Given the description of an element on the screen output the (x, y) to click on. 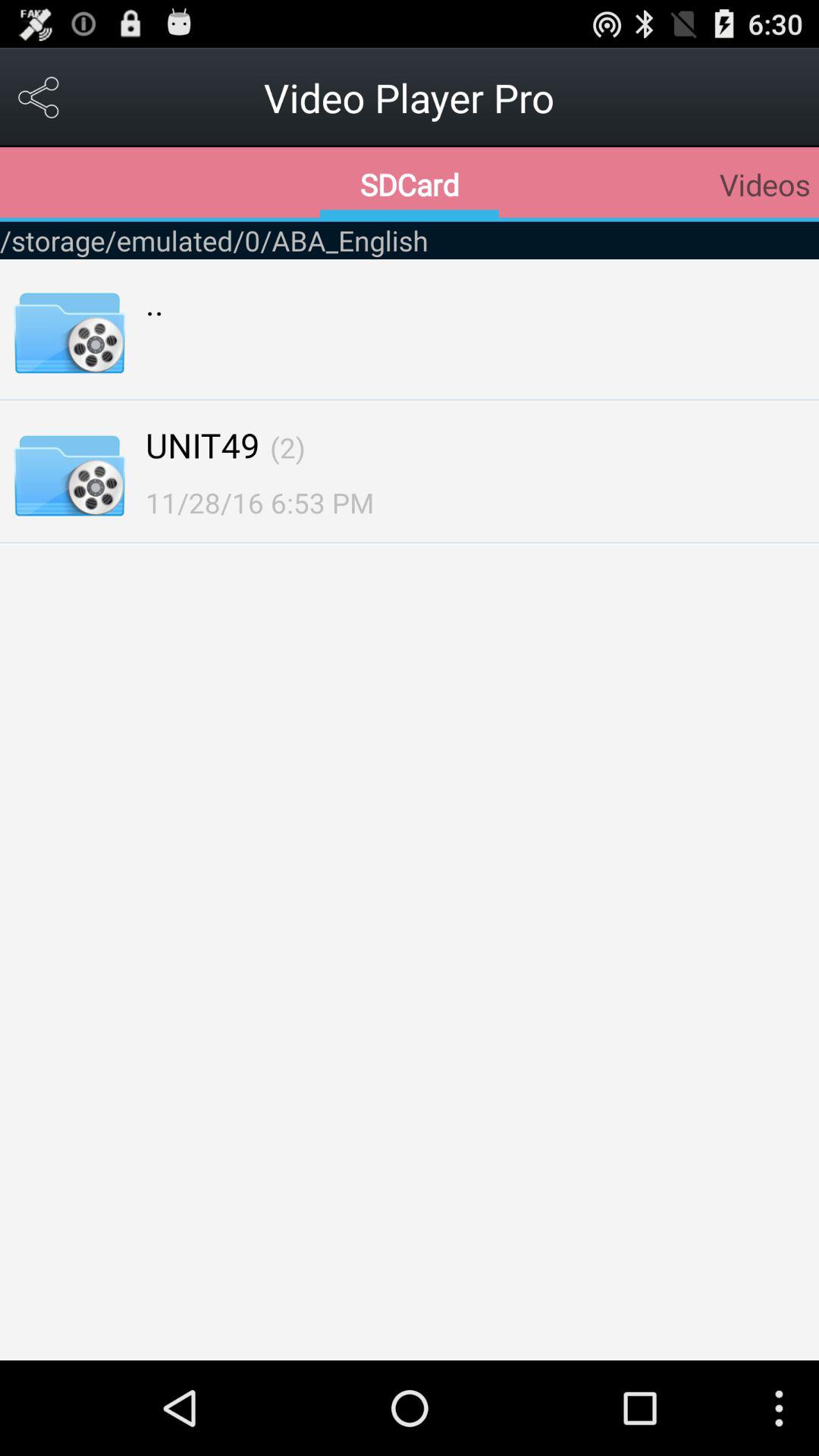
launch the item below the unit49 app (259, 502)
